Given the description of an element on the screen output the (x, y) to click on. 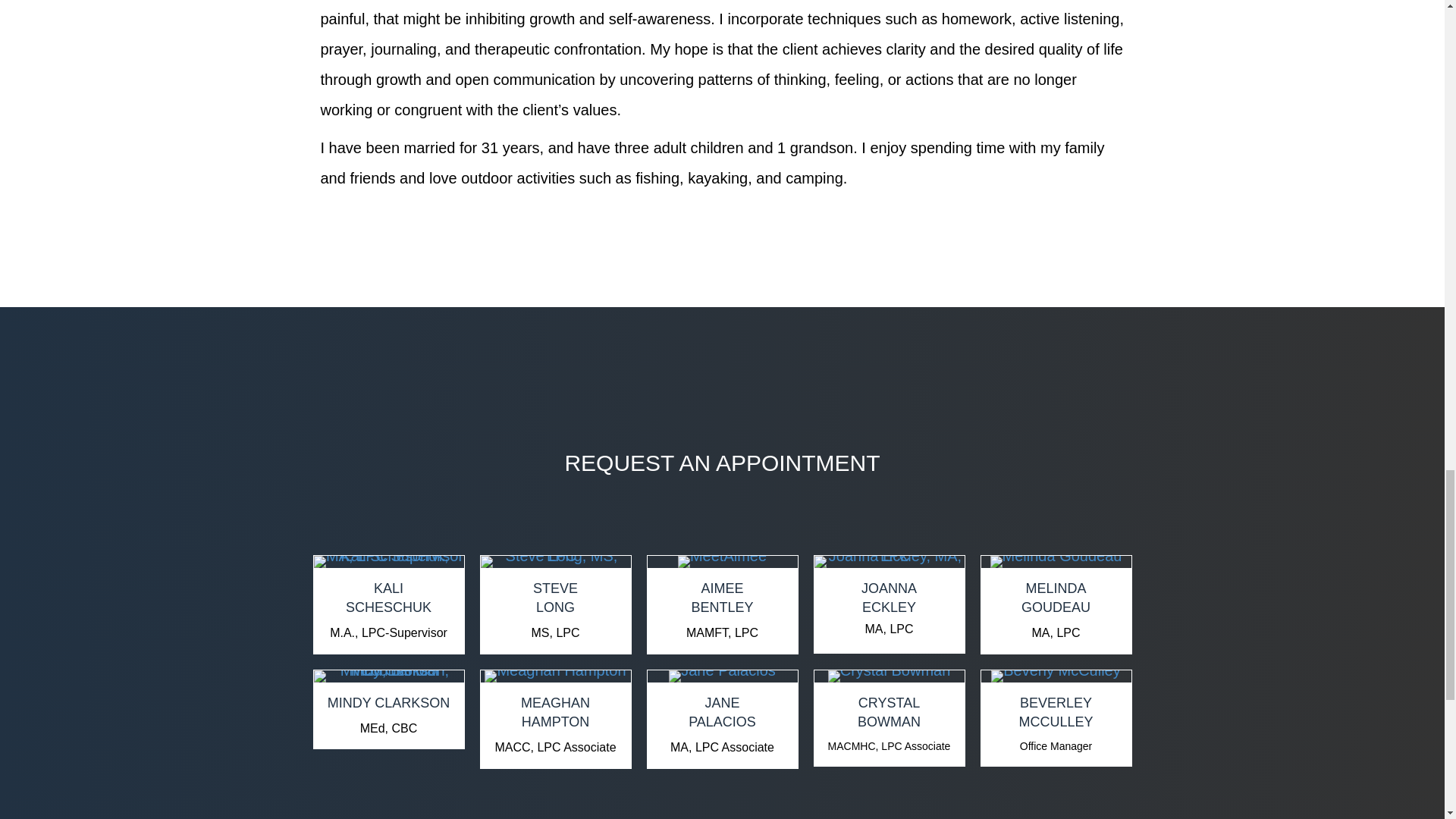
Mindy Clarkson, MEd, Biblical Counselor (389, 676)
meaghan-hampton (555, 676)
Kali Scheschuk, MA, LPC Supervisor (555, 597)
Beverly-McCulley-Pic (389, 562)
Joanna Eckley, MA, LPC (1055, 676)
MeetAimee (888, 562)
Melinda (388, 597)
Steve Long, MS, LPC (722, 562)
